Given the description of an element on the screen output the (x, y) to click on. 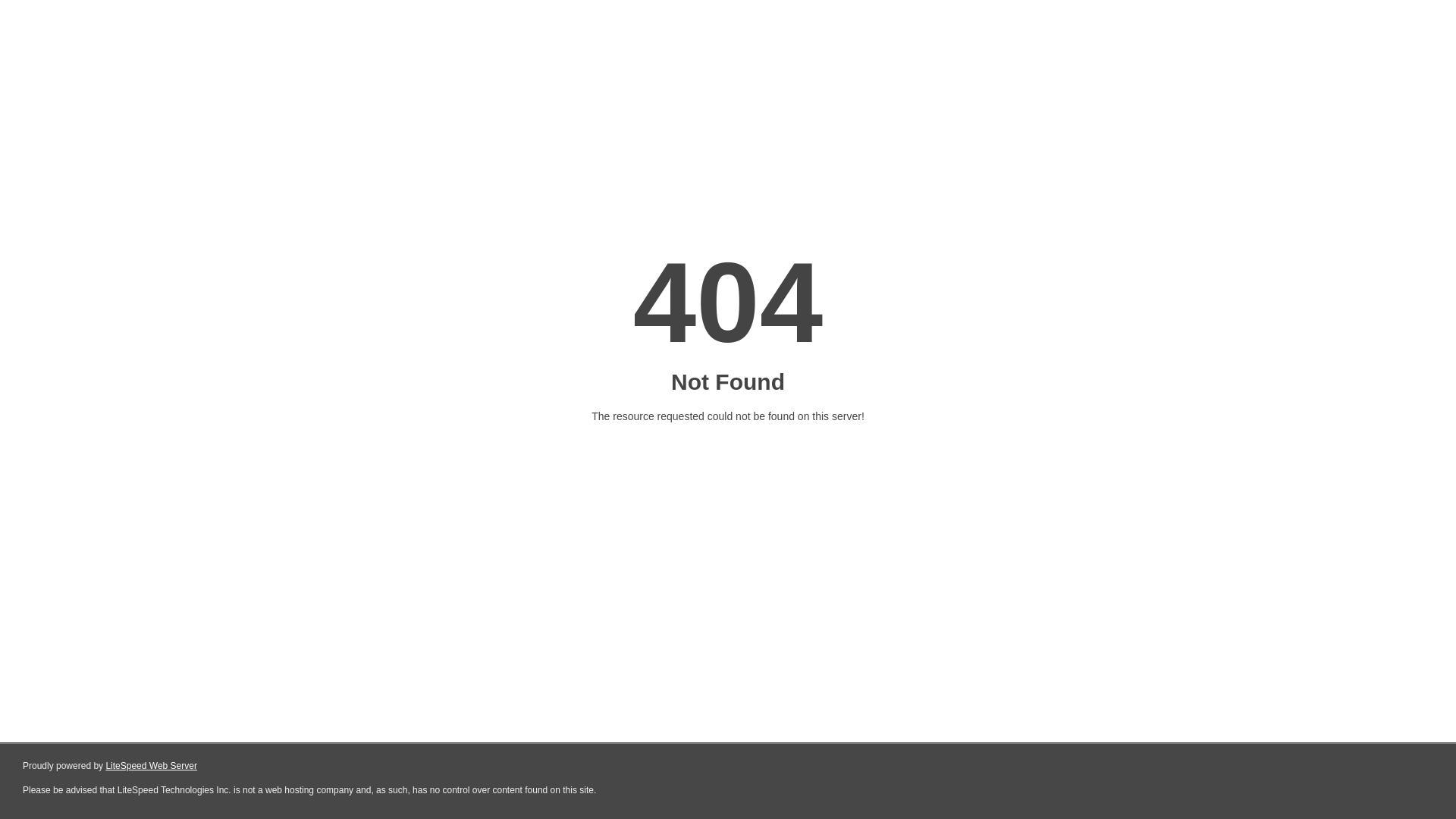
LiteSpeed Web Server Element type: text (151, 765)
